Given the description of an element on the screen output the (x, y) to click on. 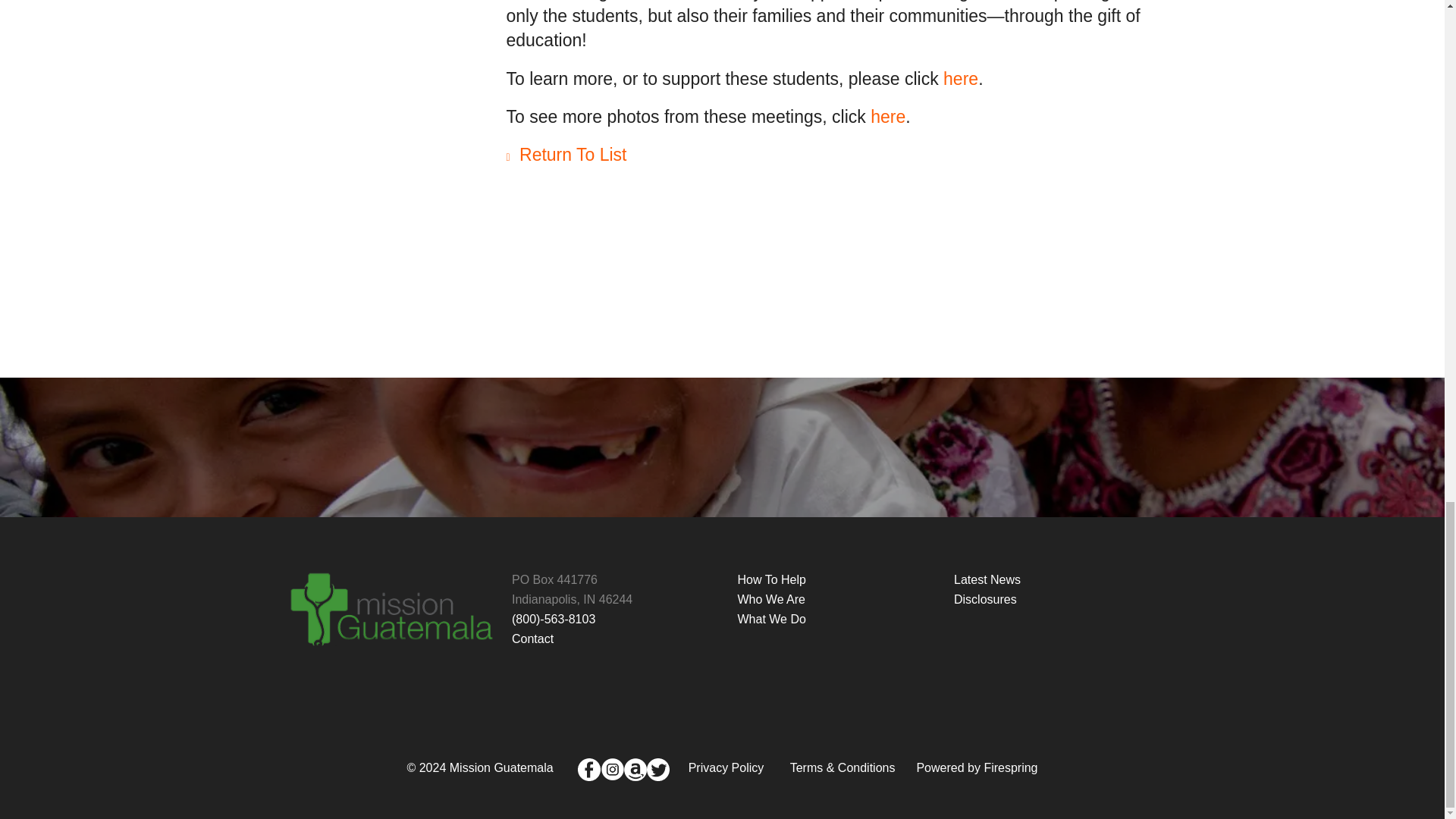
logo (391, 615)
